Given the description of an element on the screen output the (x, y) to click on. 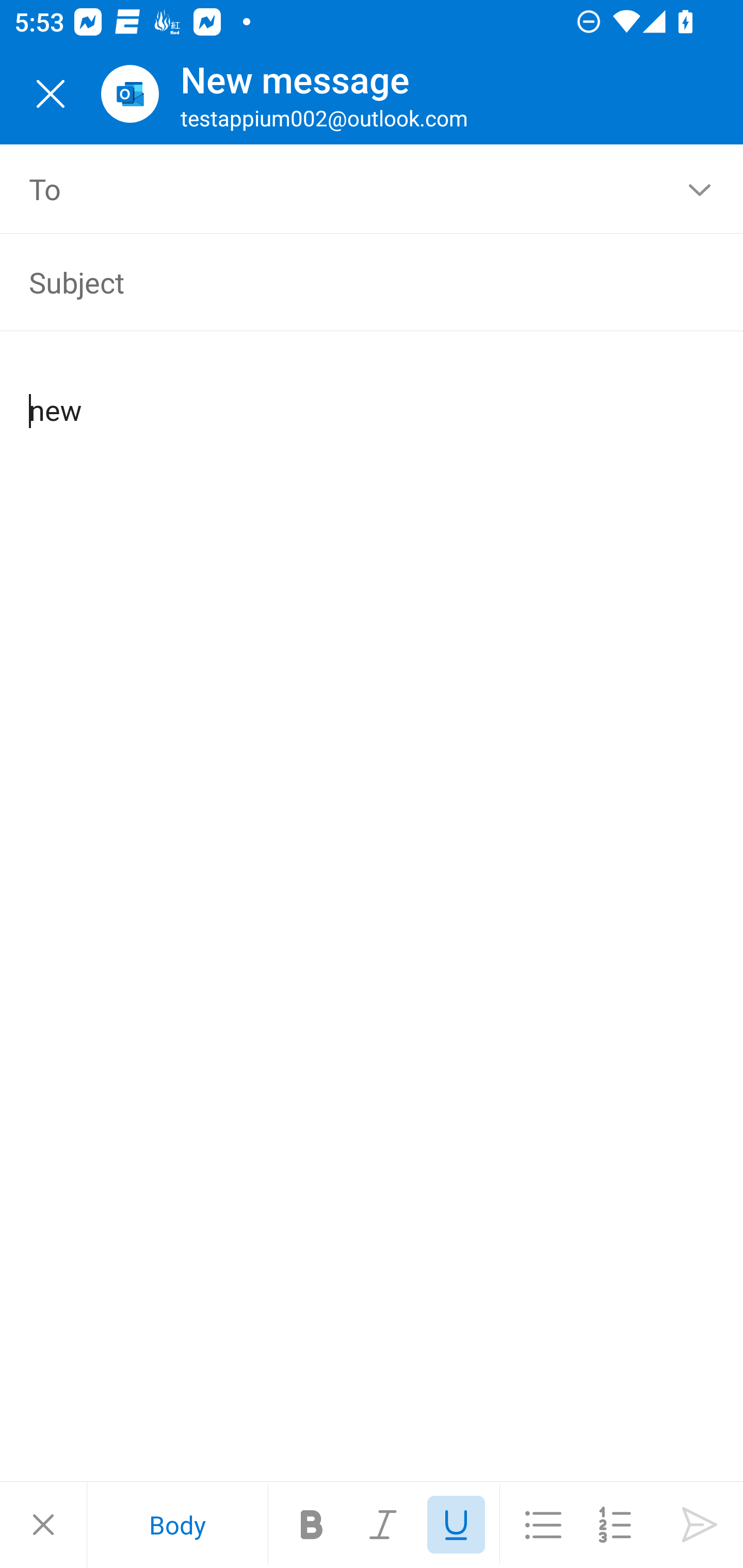
Close (50, 93)
Subject (342, 281)

new (372, 394)
Close (43, 1524)
Send (699, 1524)
Font style button body Body (176, 1524)
Bold (311, 1524)
Italics (384, 1524)
Selected Underline (456, 1524)
Bulleted list (543, 1524)
Numbered list (615, 1524)
